Given the description of an element on the screen output the (x, y) to click on. 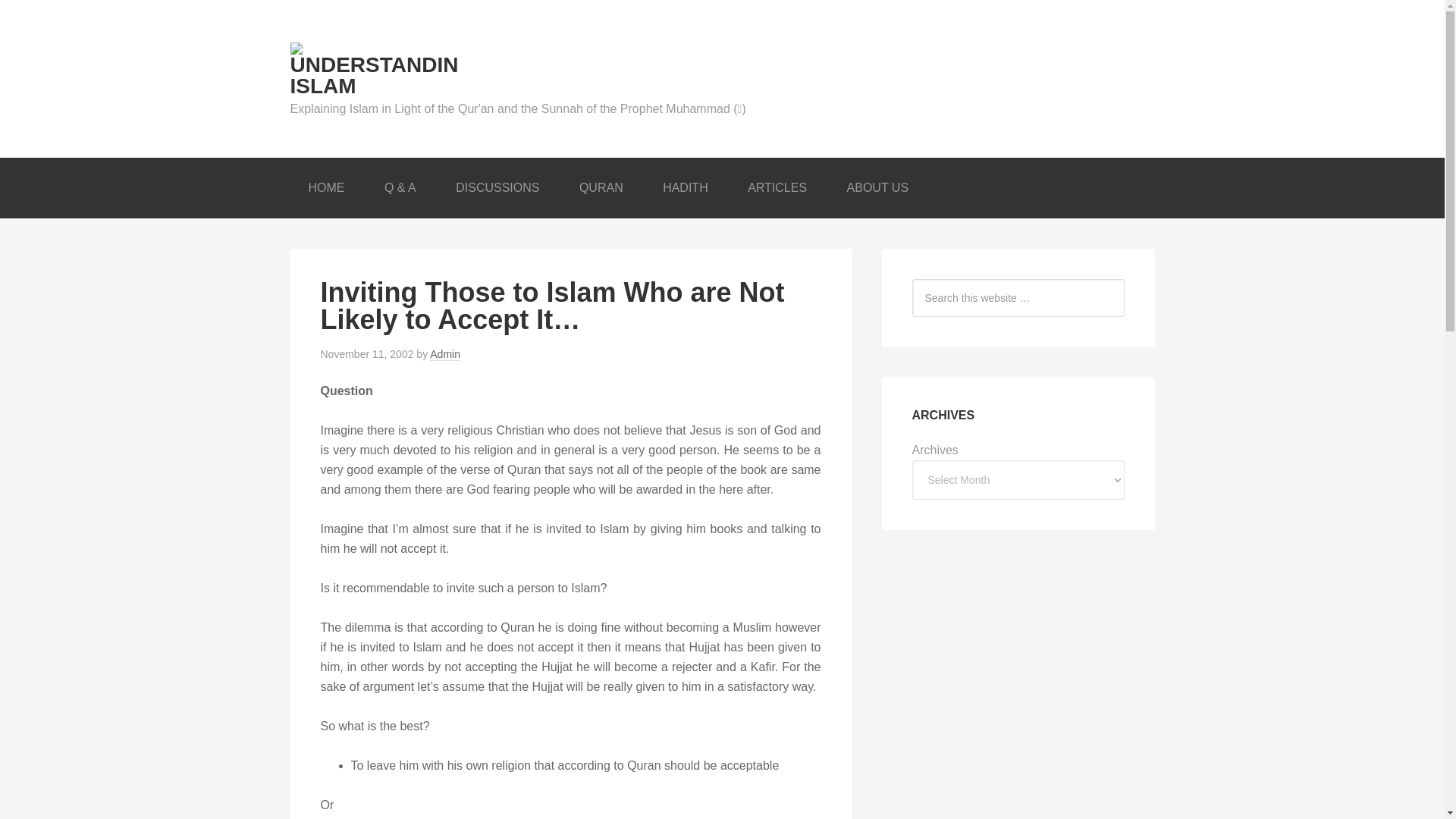
DISCUSSIONS (497, 188)
HADITH (685, 188)
QURAN (601, 188)
HOME (325, 188)
ARTICLES (777, 188)
